Given the description of an element on the screen output the (x, y) to click on. 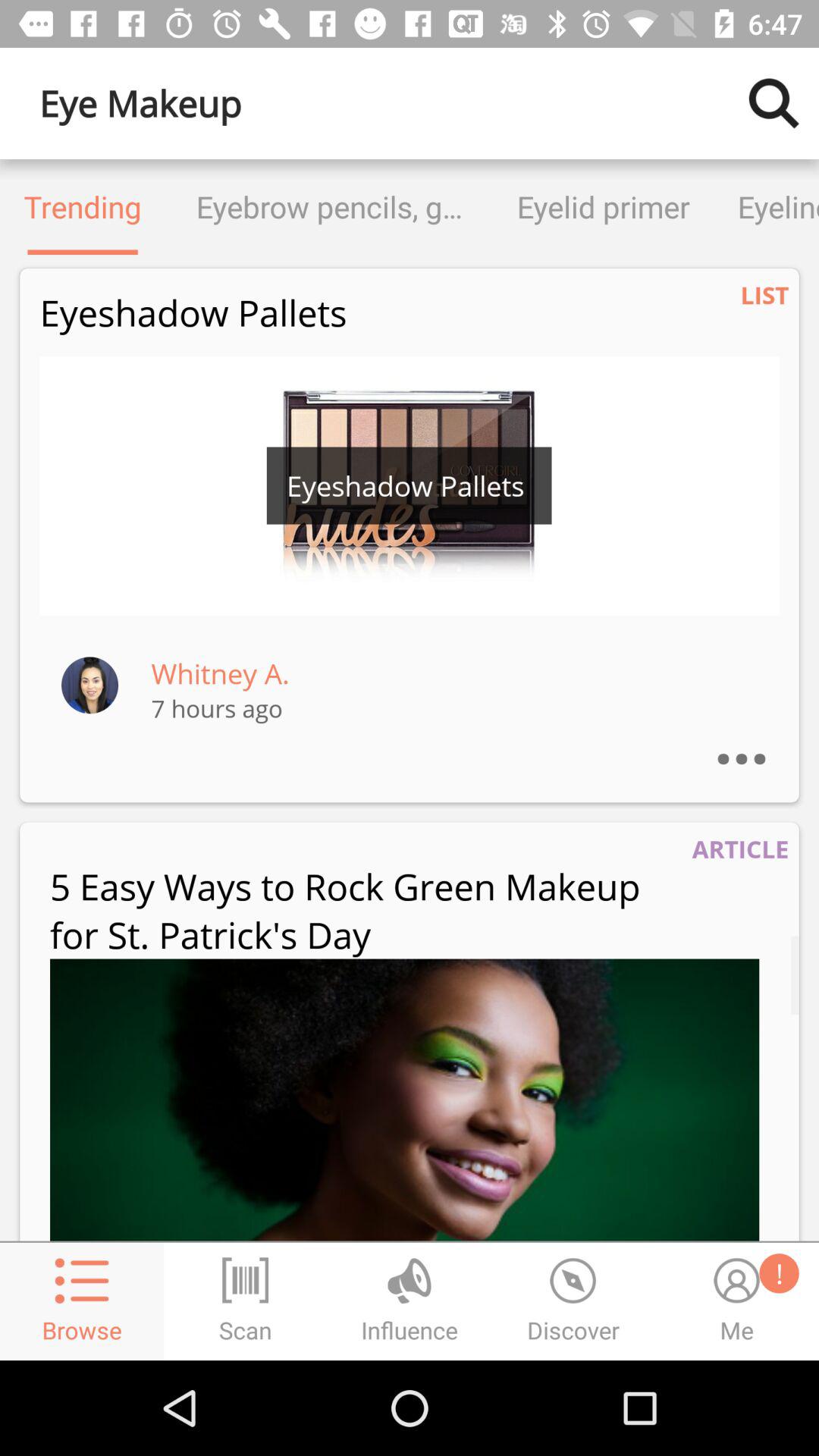
search (773, 103)
